Given the description of an element on the screen output the (x, y) to click on. 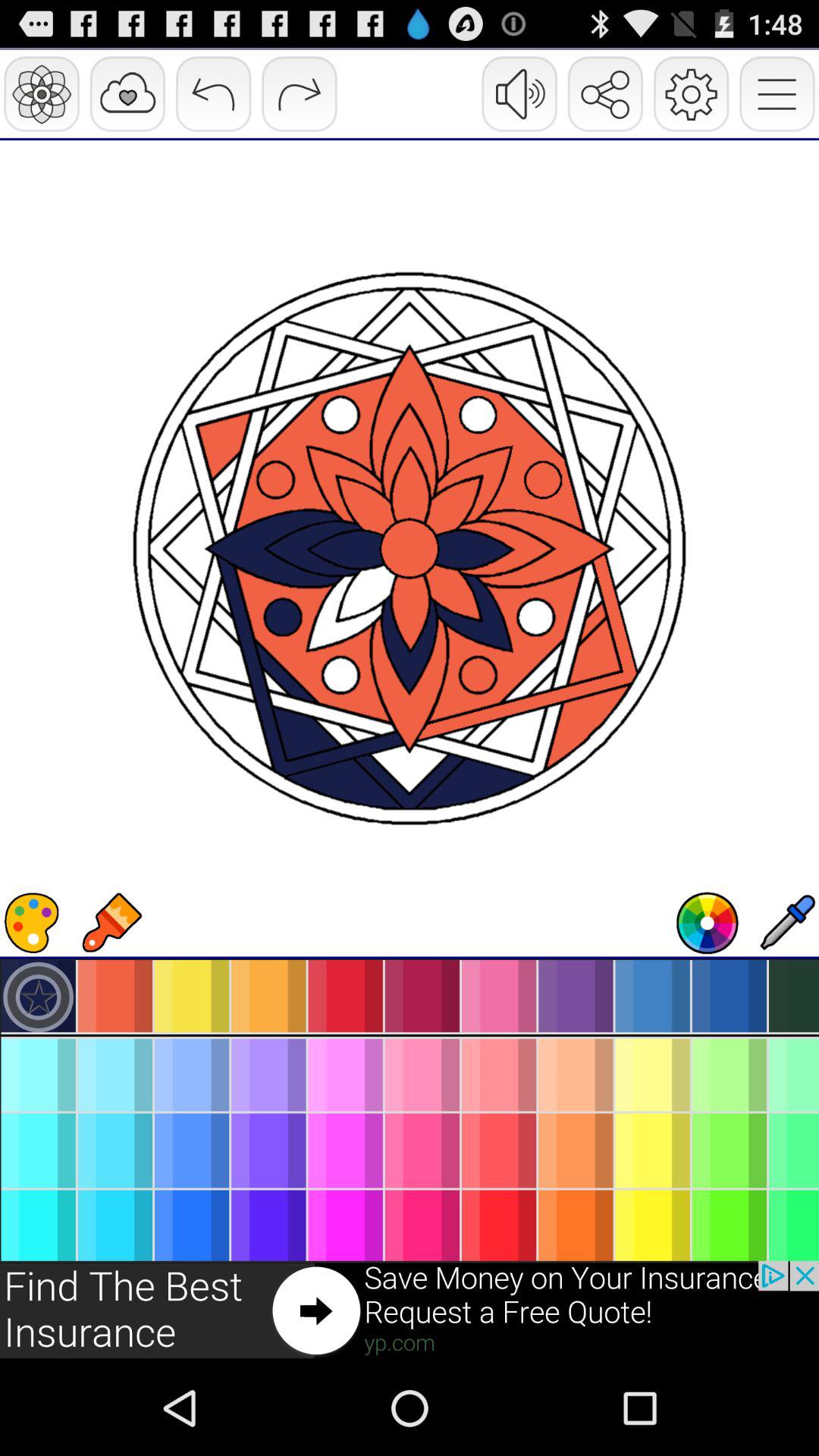
color option (31, 922)
